Given the description of an element on the screen output the (x, y) to click on. 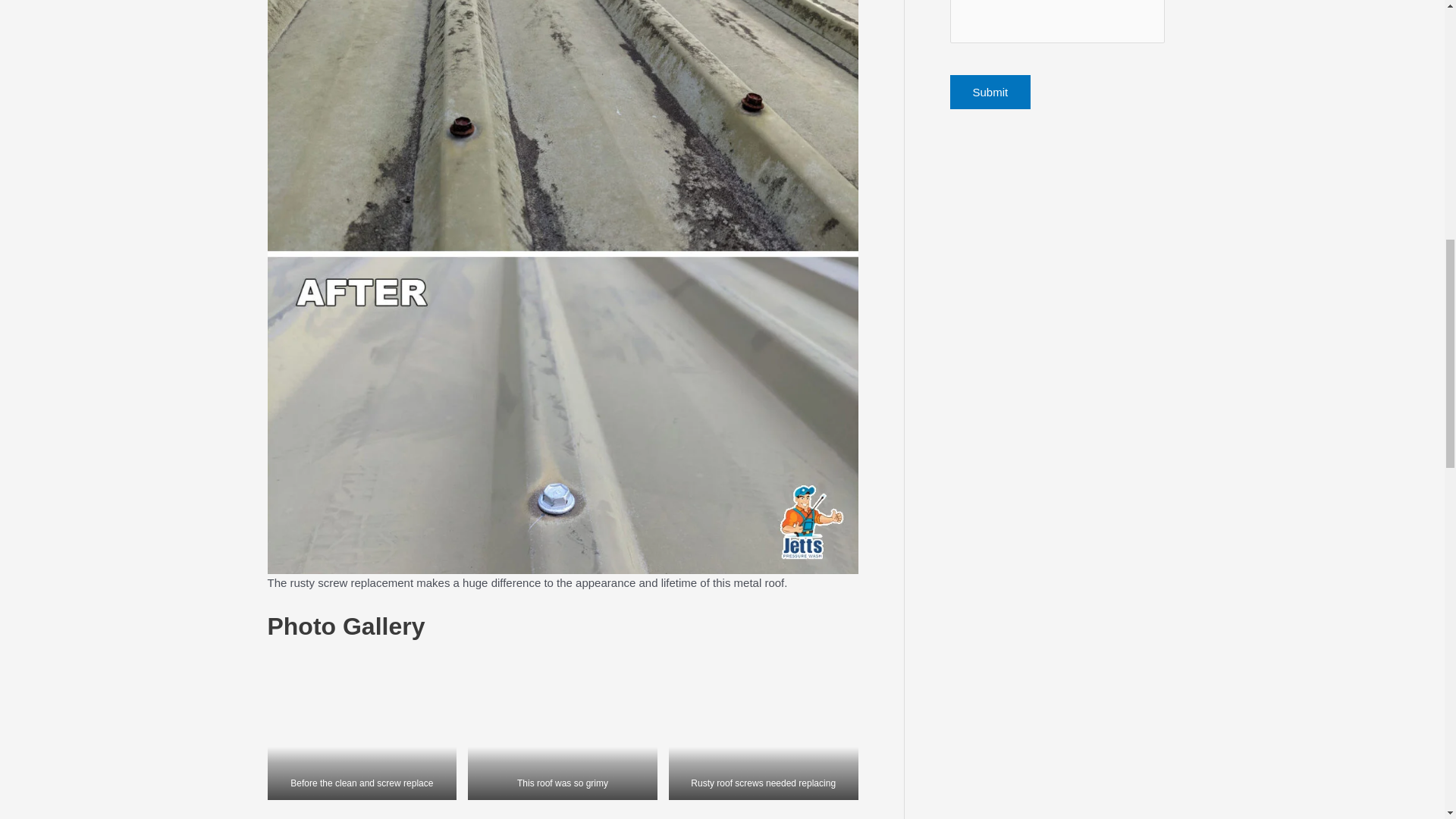
Submit (989, 91)
